Given the description of an element on the screen output the (x, y) to click on. 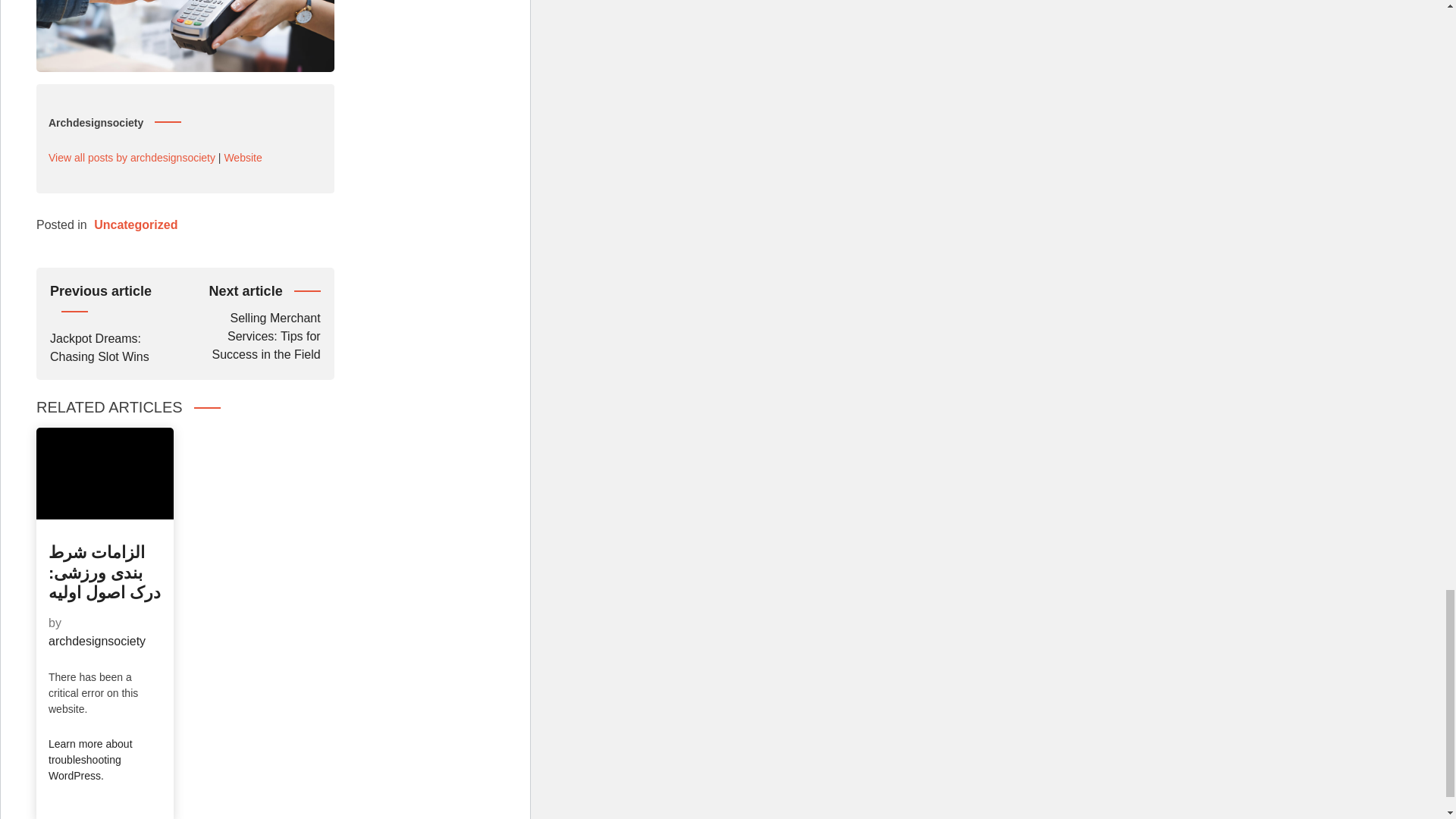
archdesignsociety (96, 640)
Website (243, 157)
Uncategorized (135, 224)
View all posts by archdesignsociety (116, 322)
